Given the description of an element on the screen output the (x, y) to click on. 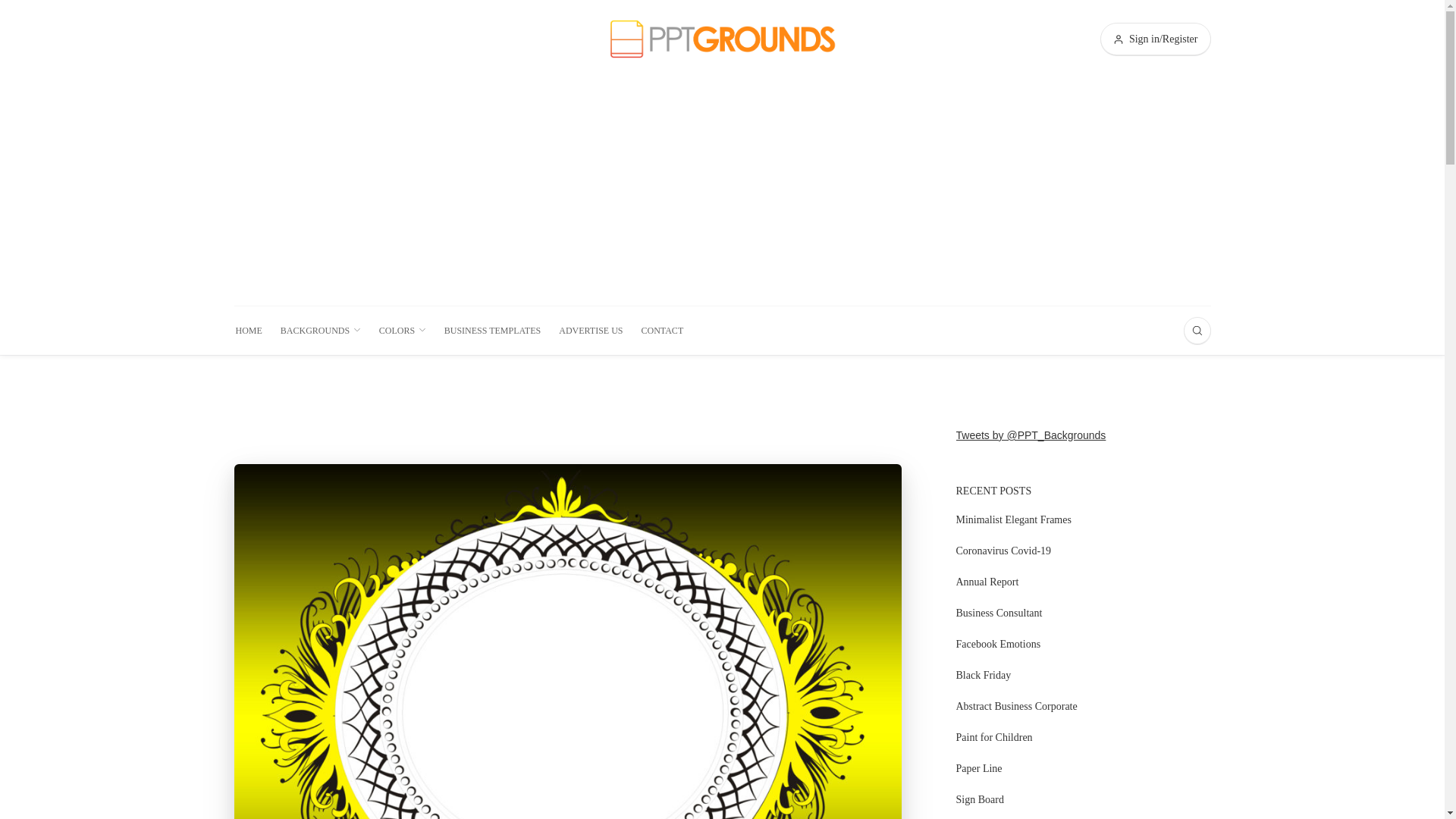
BACKGROUNDS (321, 330)
Free PPT Grounds and Powerpoint Template (721, 38)
COLORS (402, 330)
